Given the description of an element on the screen output the (x, y) to click on. 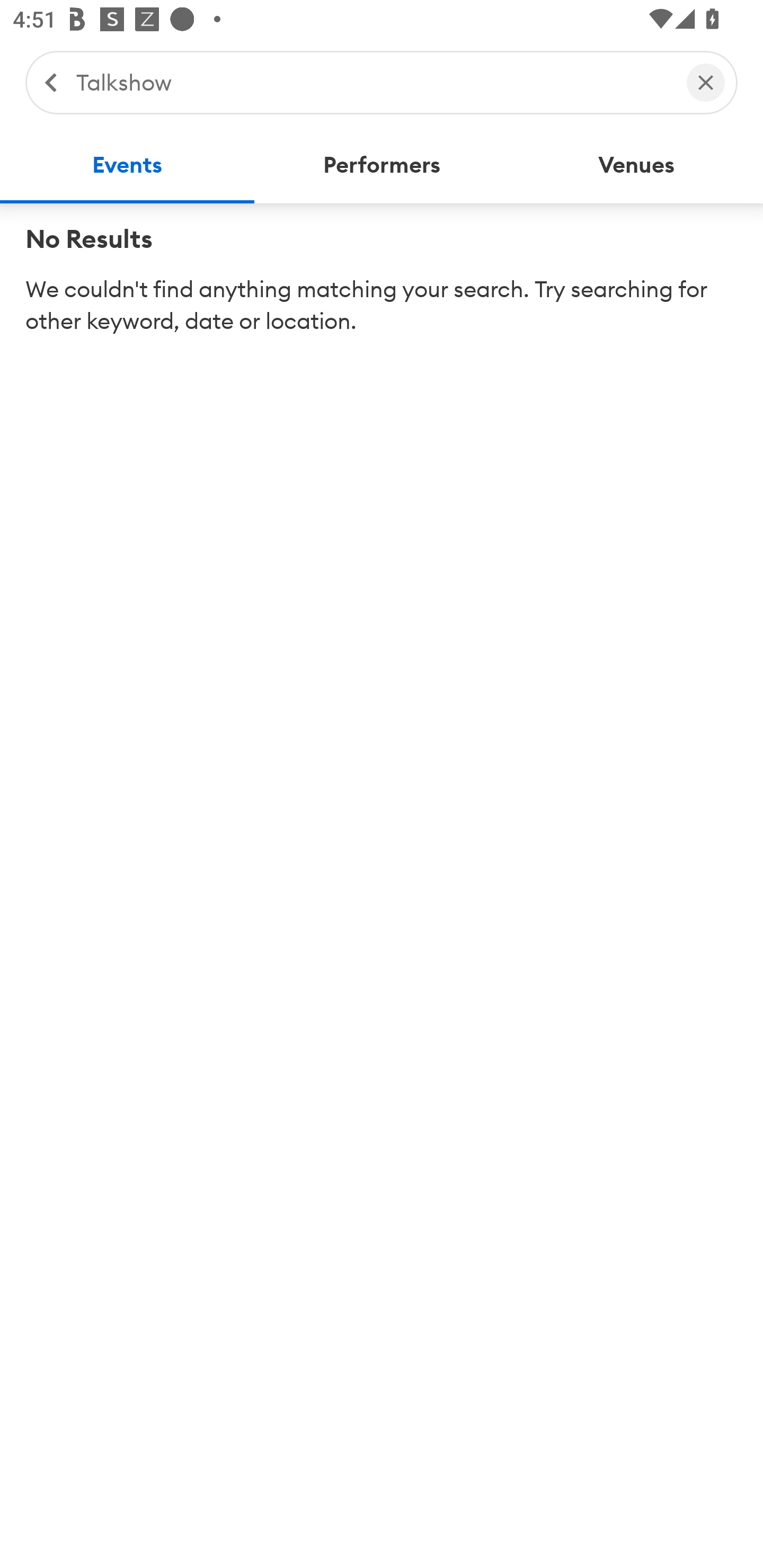
Talkshow (371, 81)
Clear Search (705, 81)
Performers (381, 165)
Venues (635, 165)
